Given the description of an element on the screen output the (x, y) to click on. 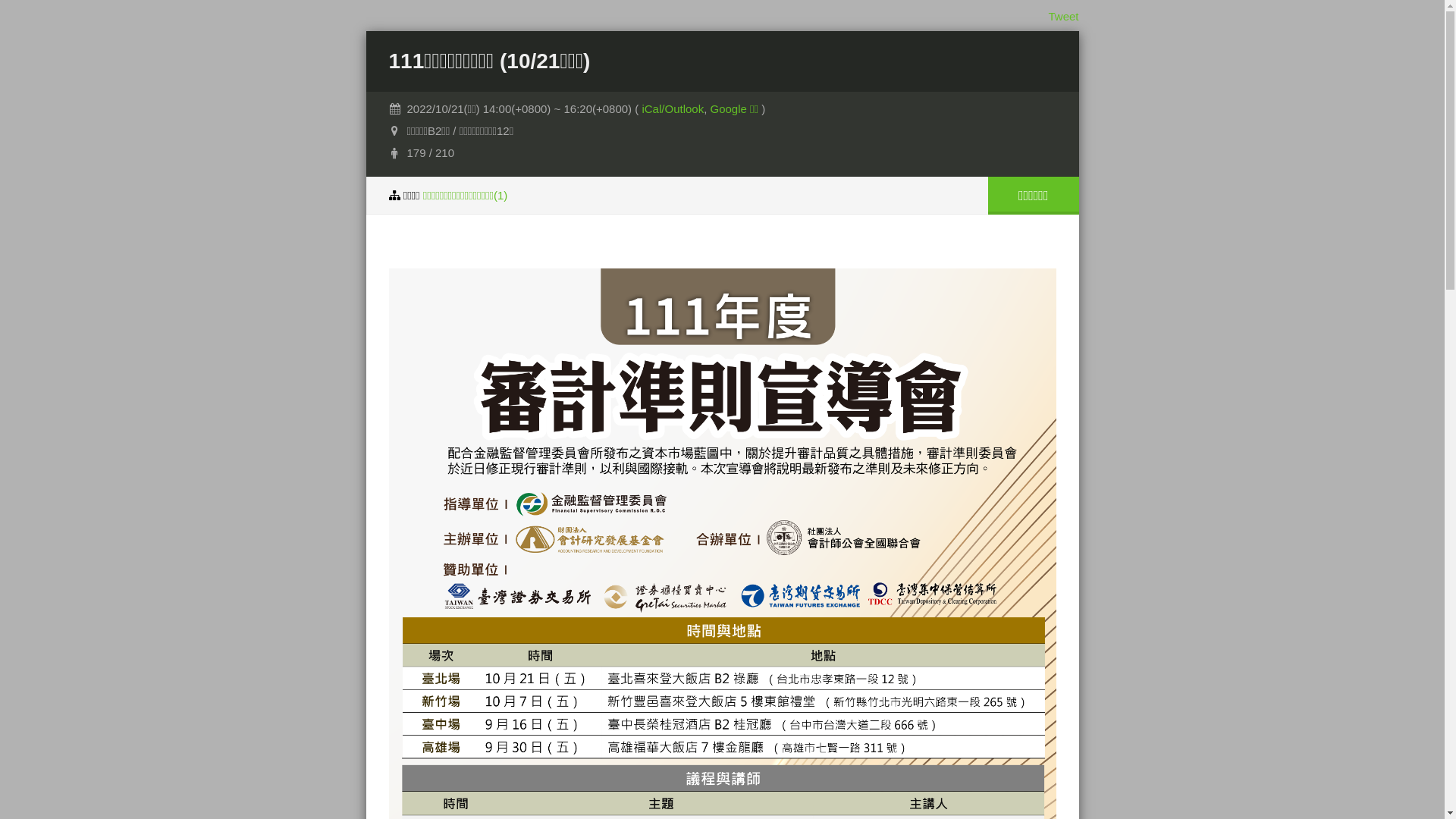
iCal/Outlook Element type: text (672, 108)
Tweet Element type: text (1063, 15)
